Given the description of an element on the screen output the (x, y) to click on. 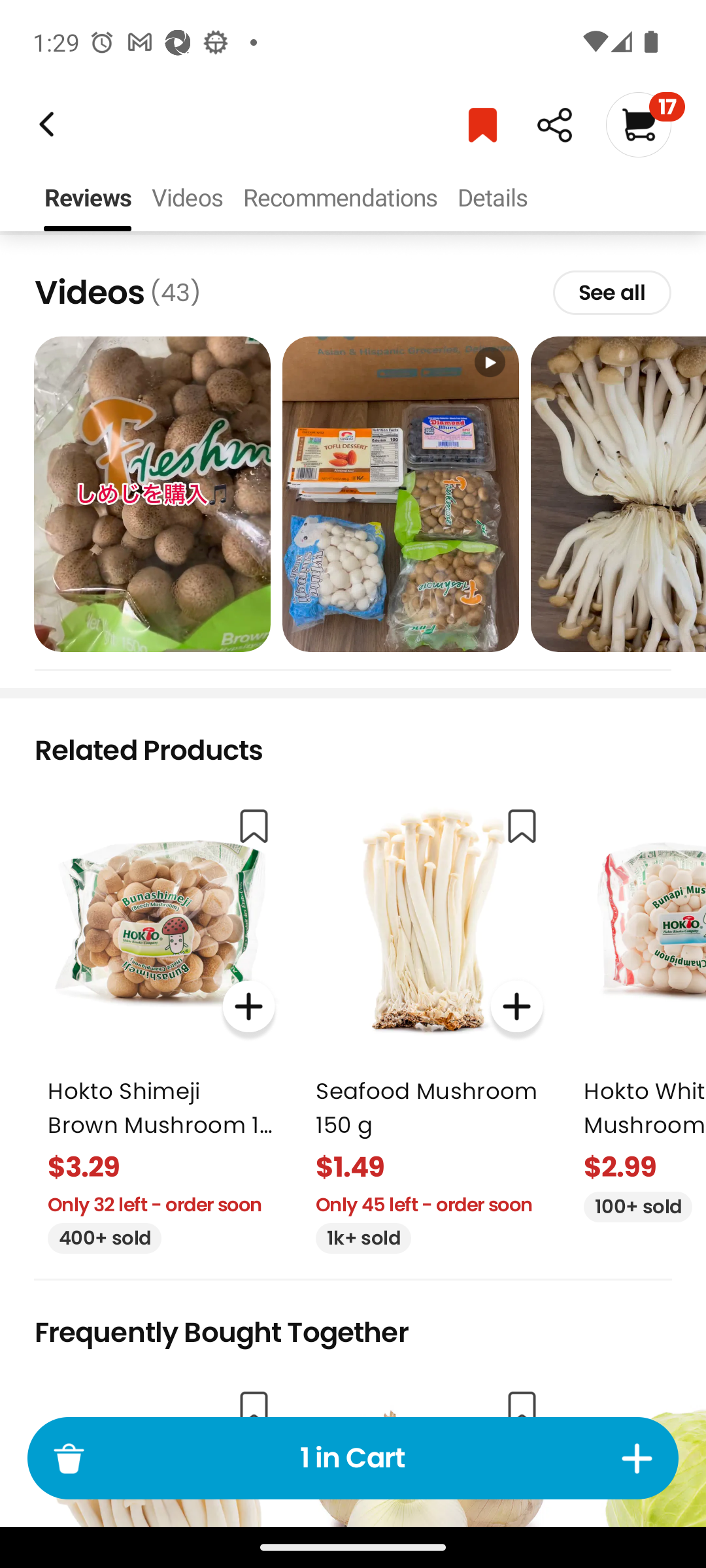
17 (644, 124)
Weee! (45, 124)
Weee! (554, 125)
Reviews (87, 199)
Videos (186, 199)
Recommendations (339, 199)
Details (491, 199)
See all (611, 292)
1 in Cart (352, 1458)
